Given the description of an element on the screen output the (x, y) to click on. 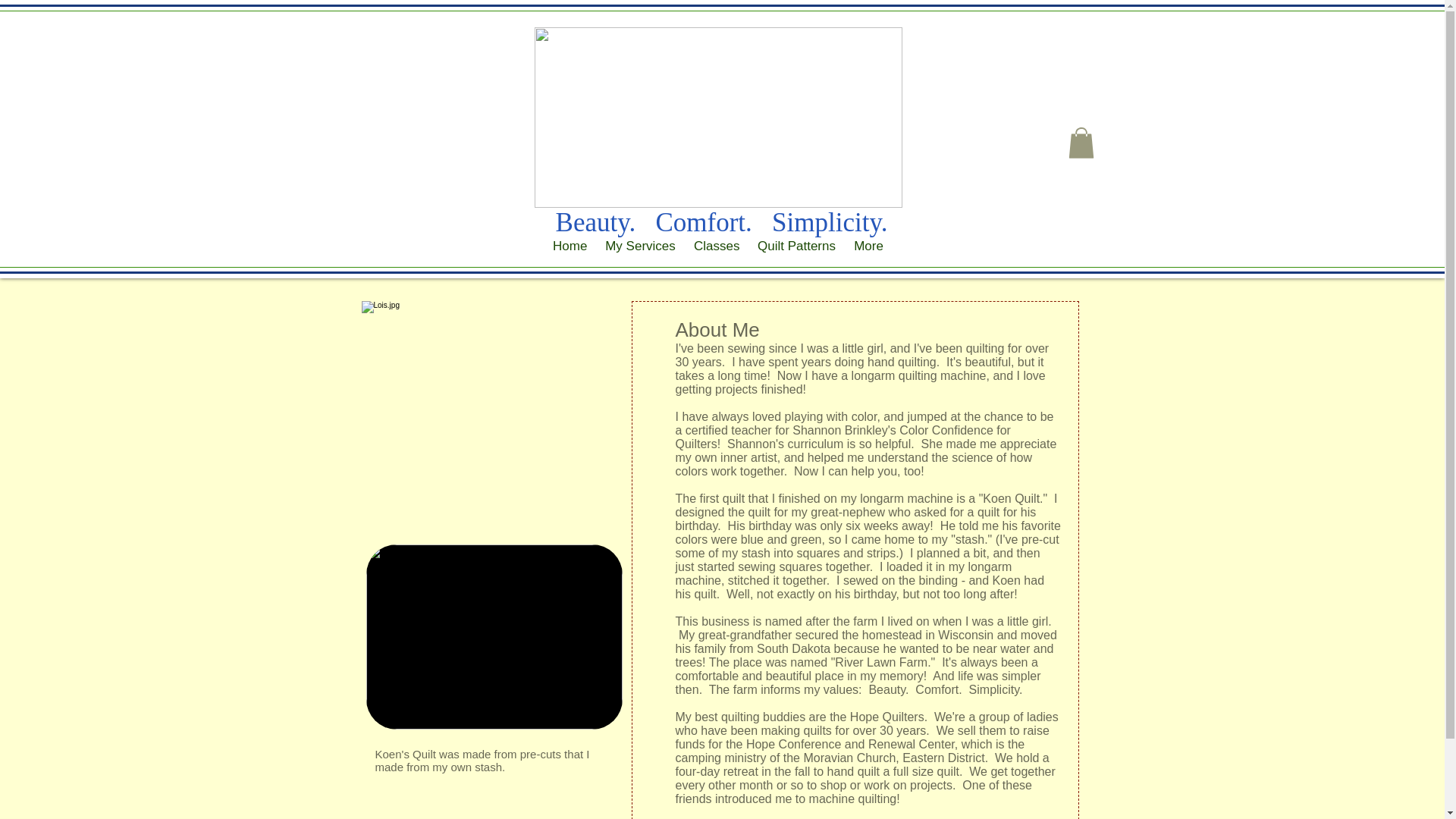
Classes (716, 246)
My Logo (717, 117)
My Services (639, 246)
Home (569, 246)
Quilt Patterns (796, 246)
